Given the description of an element on the screen output the (x, y) to click on. 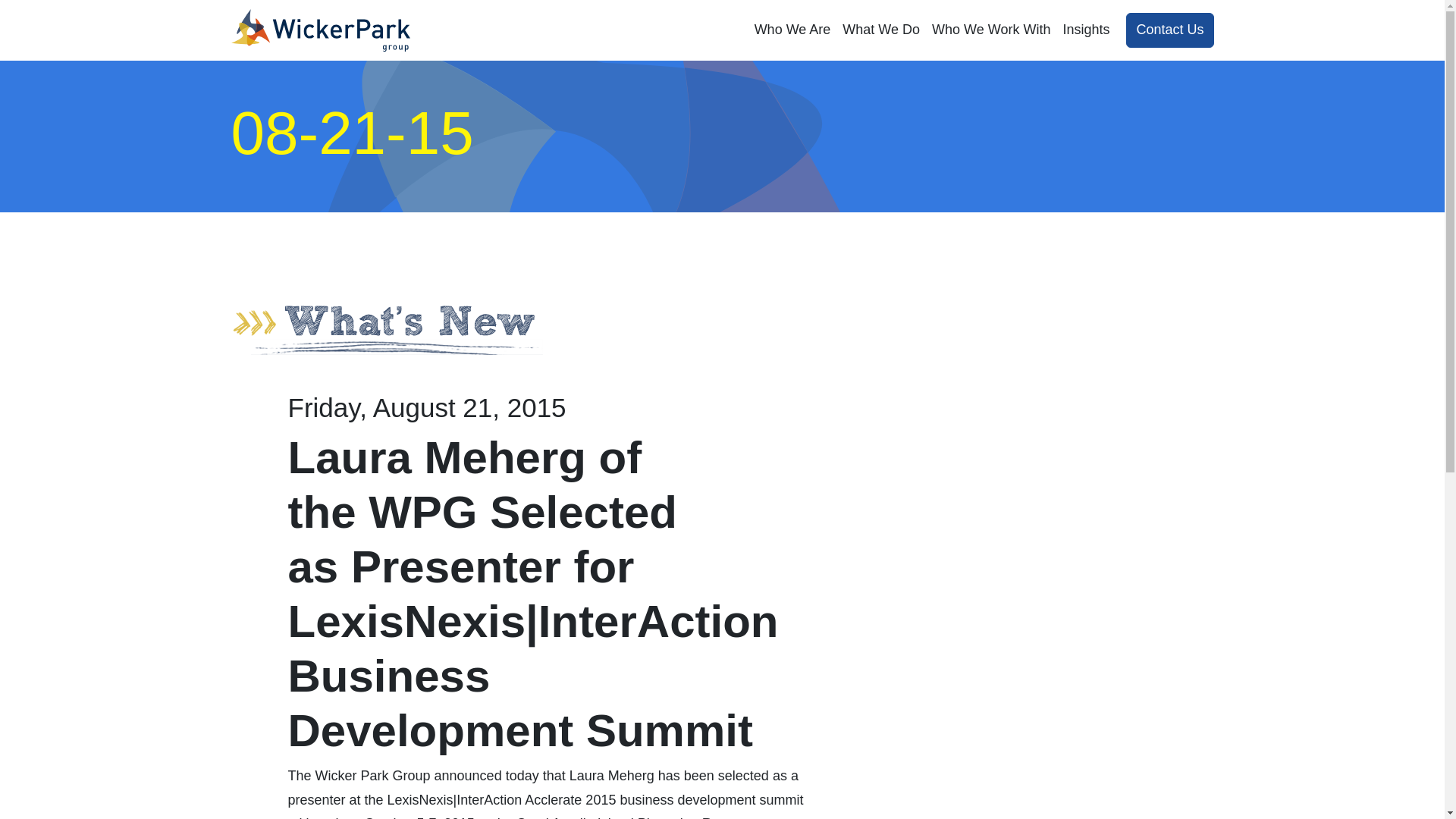
Contact Us (1168, 30)
What We Do (880, 30)
Who We Are (792, 30)
Who We Work With (991, 30)
Insights (1086, 30)
